Given the description of an element on the screen output the (x, y) to click on. 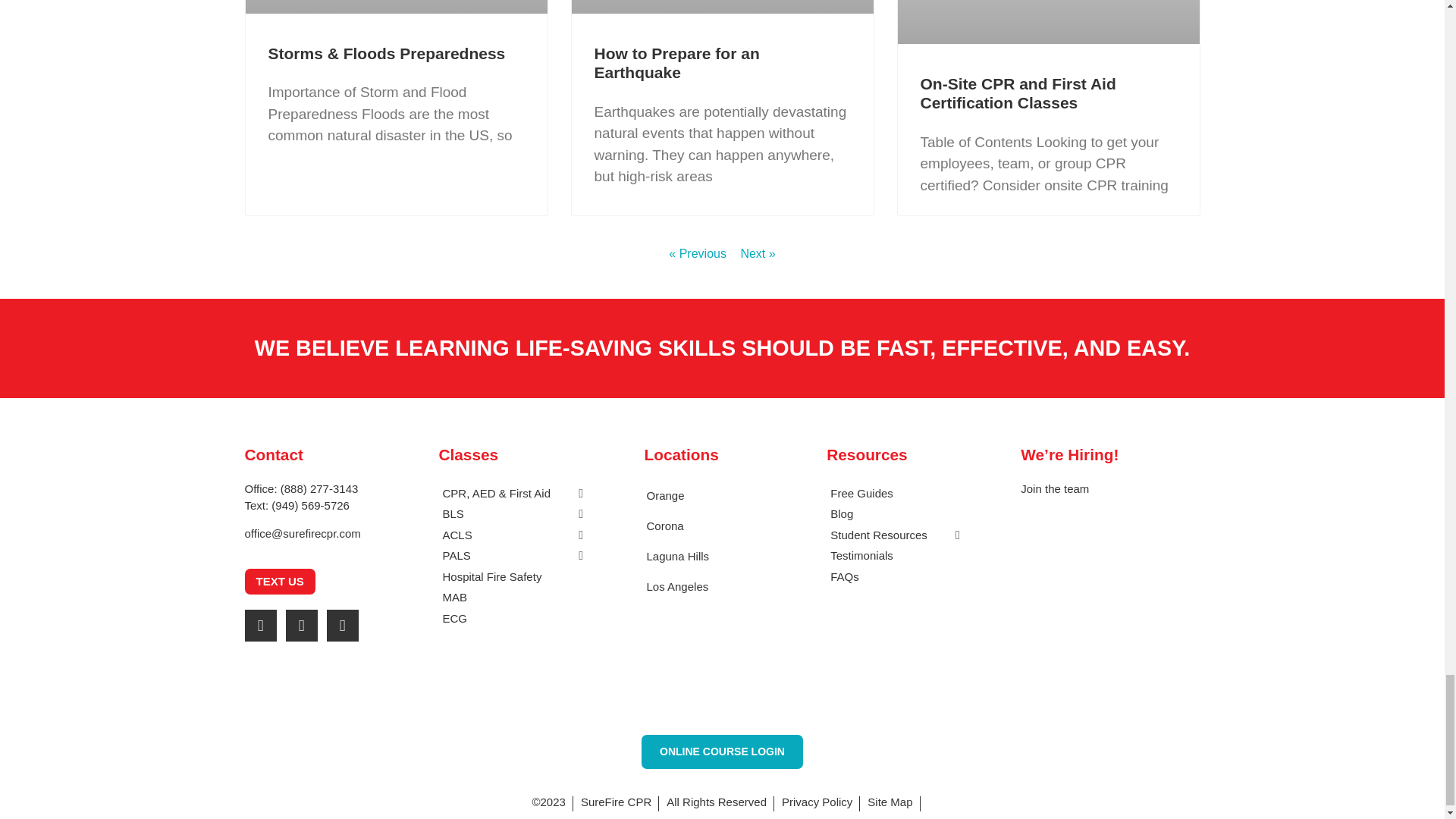
TEXT US (279, 581)
On-Site CPR and First Aid Certification Classes (1018, 93)
How to Prepare for an Earthquake (677, 63)
